Given the description of an element on the screen output the (x, y) to click on. 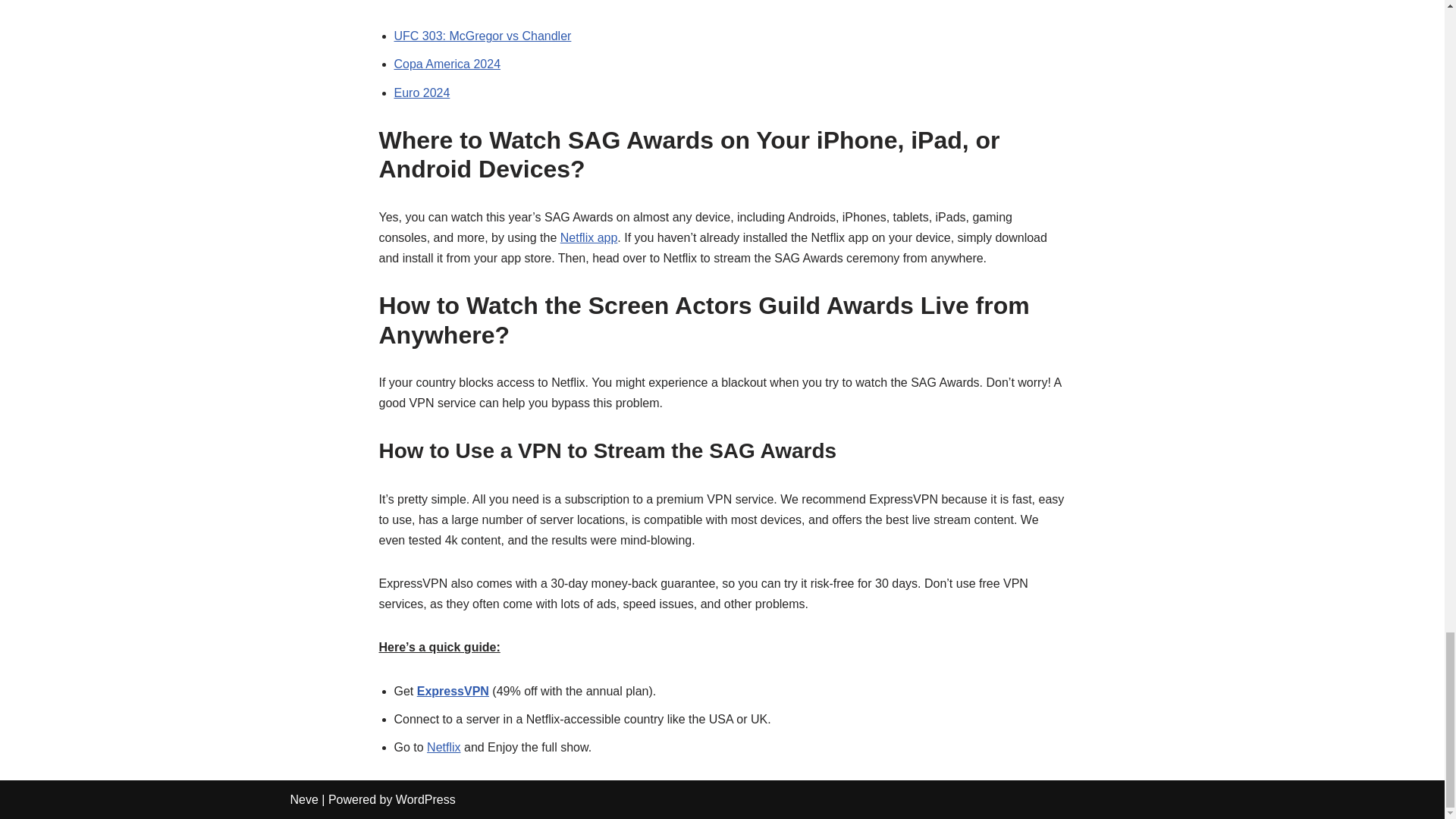
Netflix (443, 747)
Euro 2024 (421, 92)
Netflix app (588, 237)
ExpressVPN (452, 690)
WordPress (425, 799)
Copa America 2024 (447, 63)
Neve (303, 799)
UFC 303: McGregor vs Chandler (483, 35)
